Given the description of an element on the screen output the (x, y) to click on. 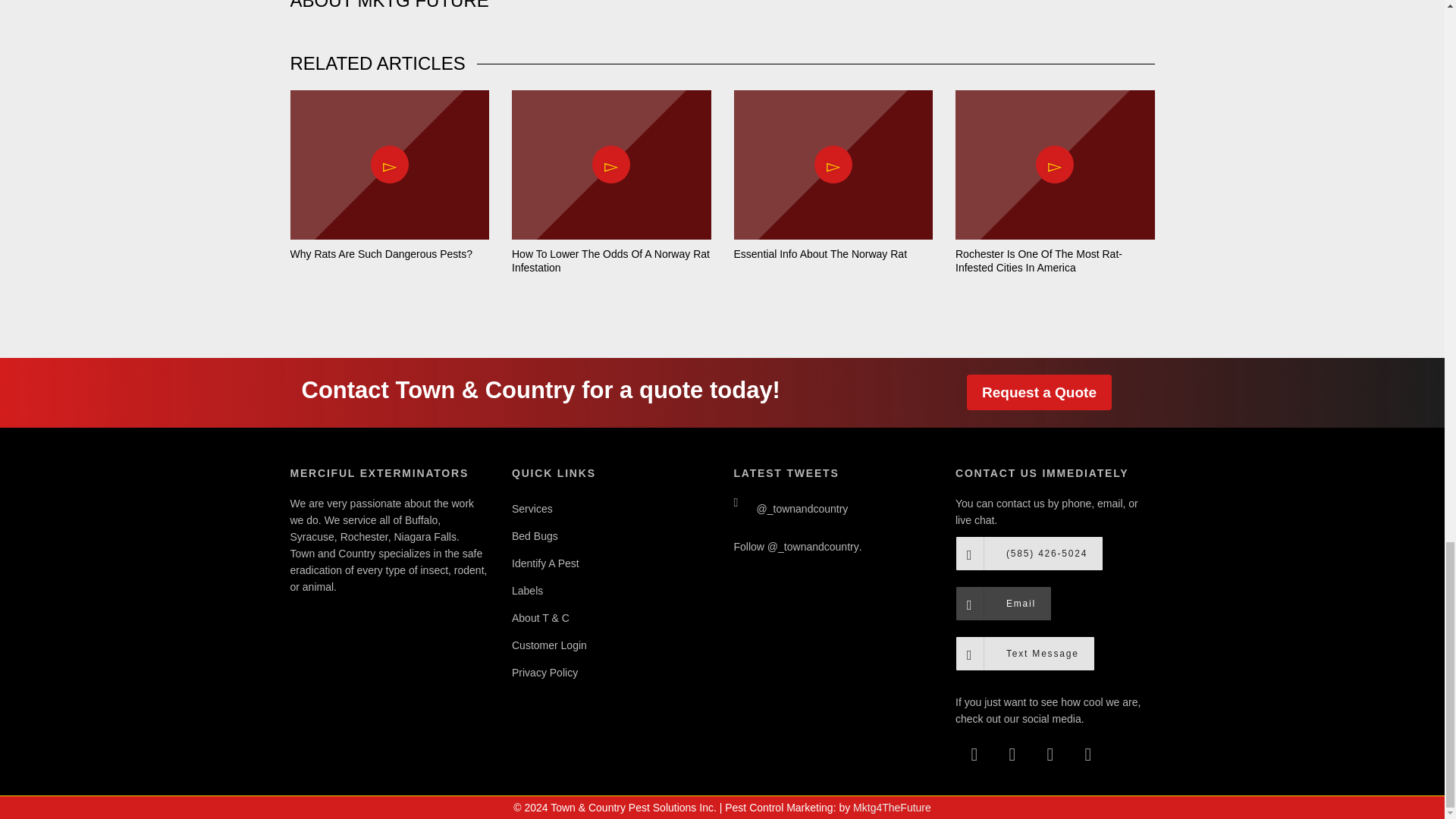
Permanent Link to Essential Info About The Norway Rat (820, 254)
Permanent Link to Why Rats Are Such Dangerous Pests? (380, 254)
Services (611, 508)
